Given the description of an element on the screen output the (x, y) to click on. 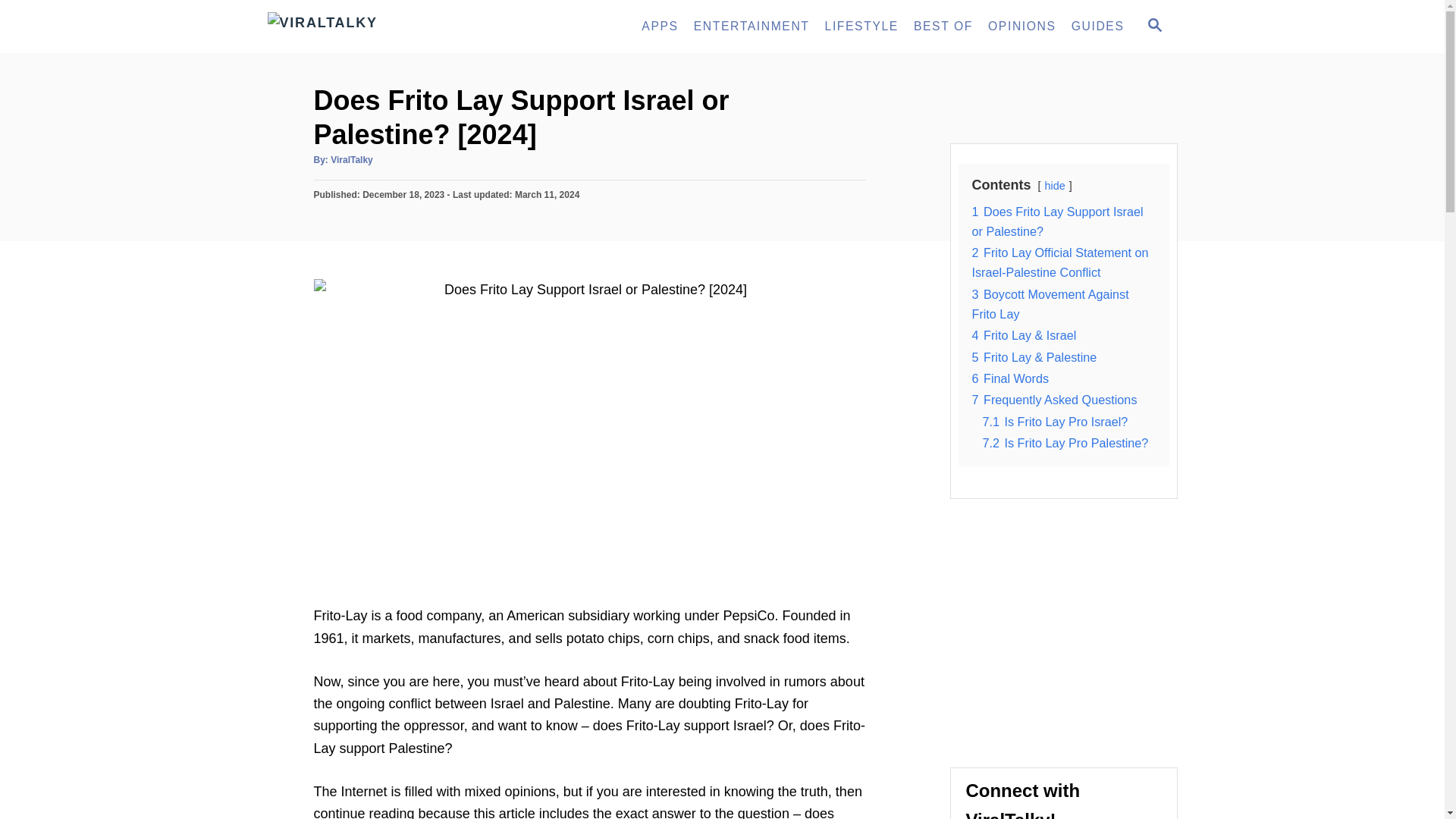
hide (1055, 185)
BEST OF (942, 26)
APPS (659, 26)
GUIDES (1098, 26)
ViralTalky (351, 159)
OPINIONS (1021, 26)
ViralTalky (403, 26)
LIFESTYLE (860, 26)
SEARCH (1153, 26)
ENTERTAINMENT (750, 26)
